Given the description of an element on the screen output the (x, y) to click on. 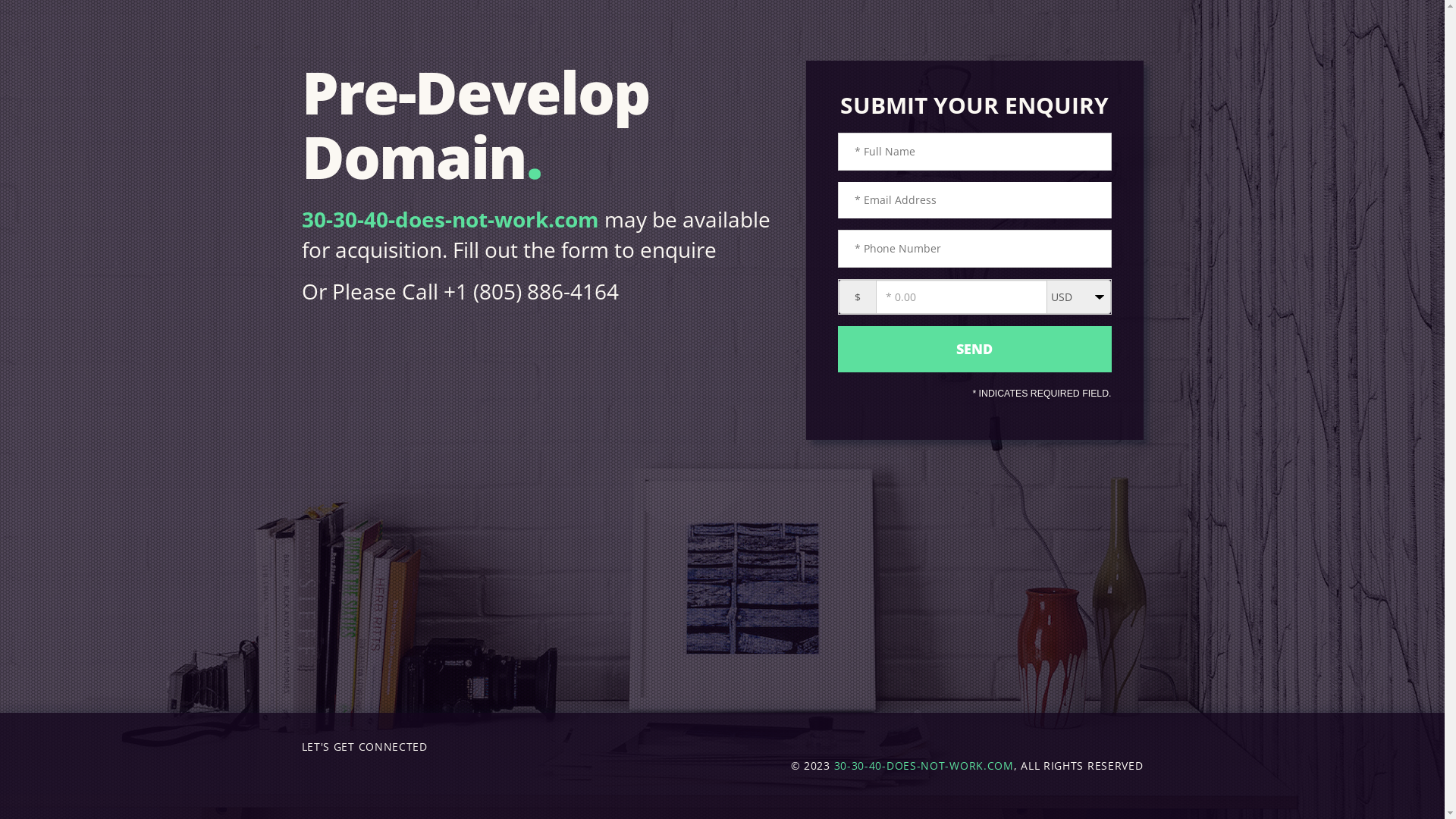
send Element type: text (973, 349)
